Given the description of an element on the screen output the (x, y) to click on. 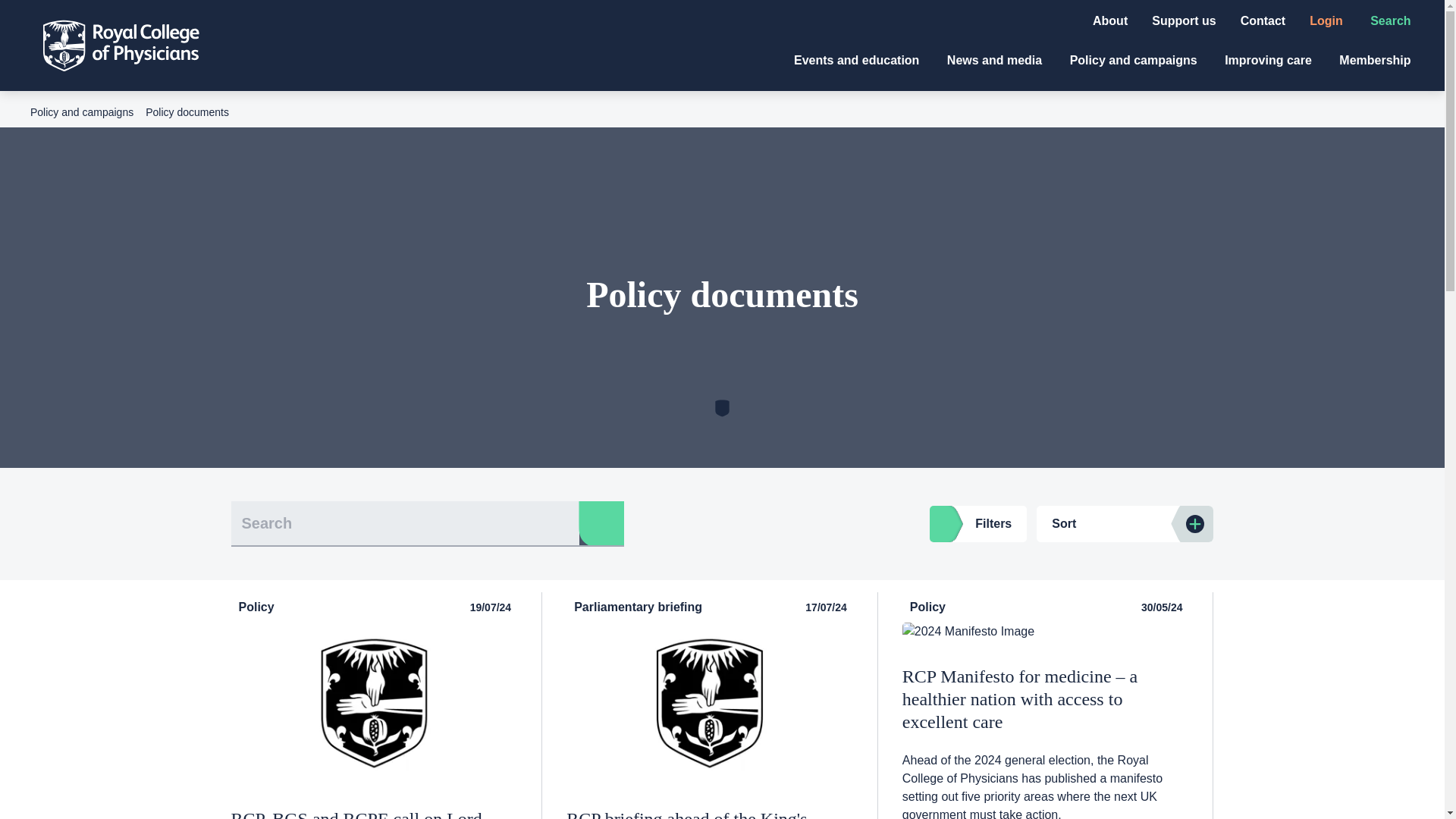
News and media (996, 60)
Policy and campaigns (1135, 60)
Improving care (1269, 60)
Support us (1183, 20)
About (1109, 20)
Login (1326, 20)
Contact (1262, 20)
